Given the description of an element on the screen output the (x, y) to click on. 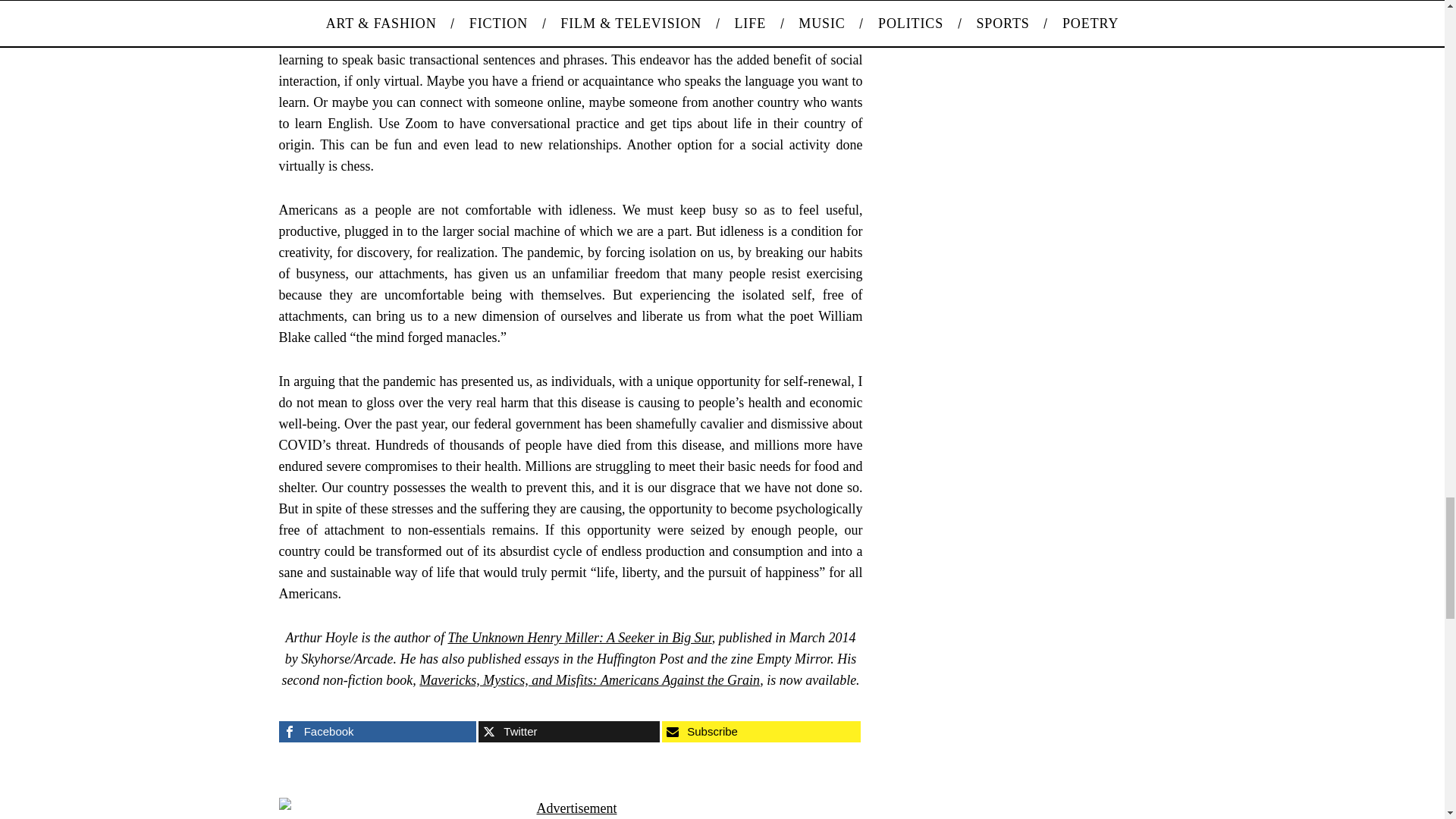
Facebook (378, 731)
Twitter (569, 731)
The Unknown Henry Miller: A Seeker in Big Sur (578, 637)
Subscribe (761, 731)
Mavericks, Mystics, and Misfits: Americans Against the Grain (589, 679)
